Given the description of an element on the screen output the (x, y) to click on. 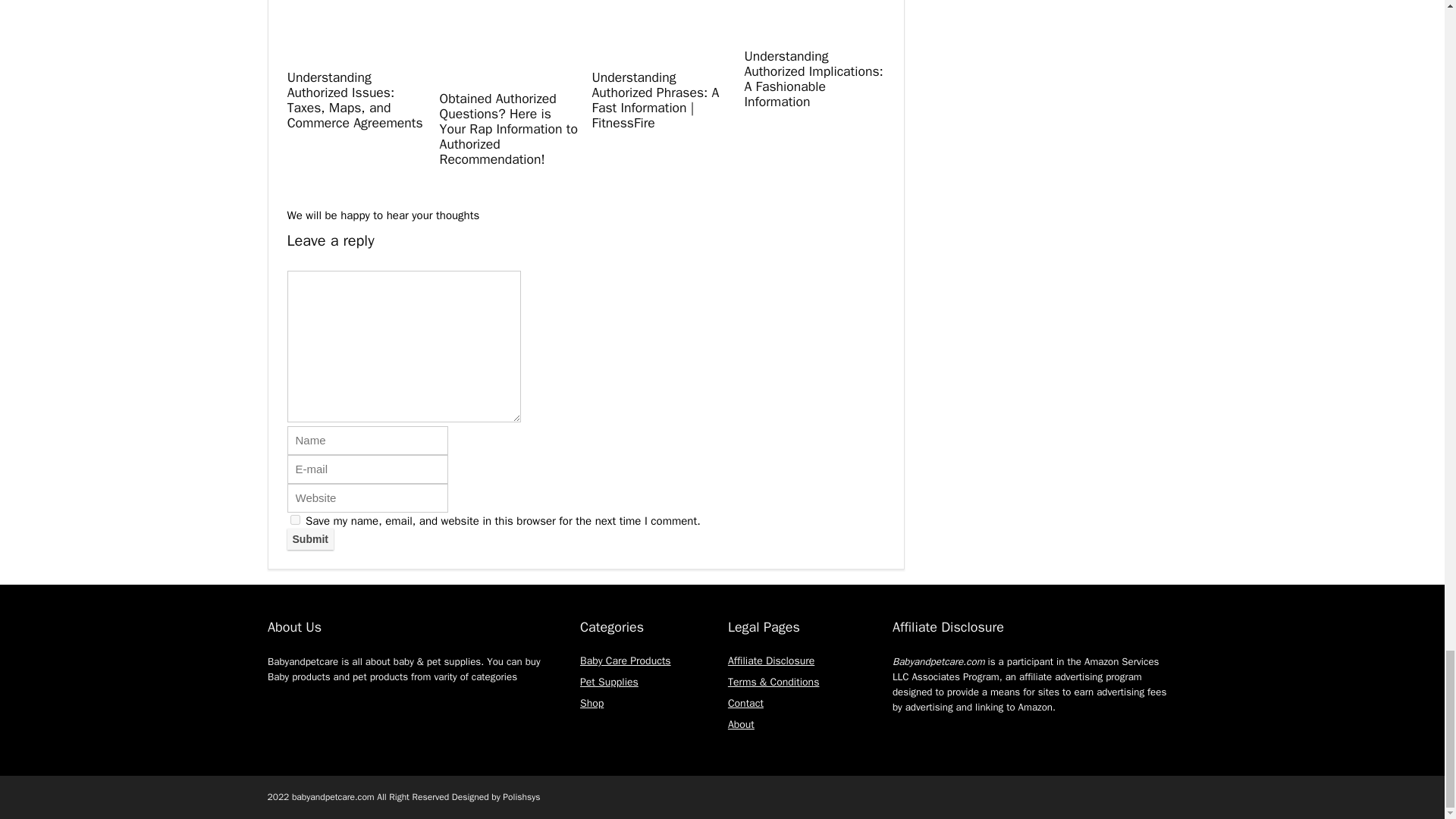
yes (294, 519)
Submit (309, 538)
